Given the description of an element on the screen output the (x, y) to click on. 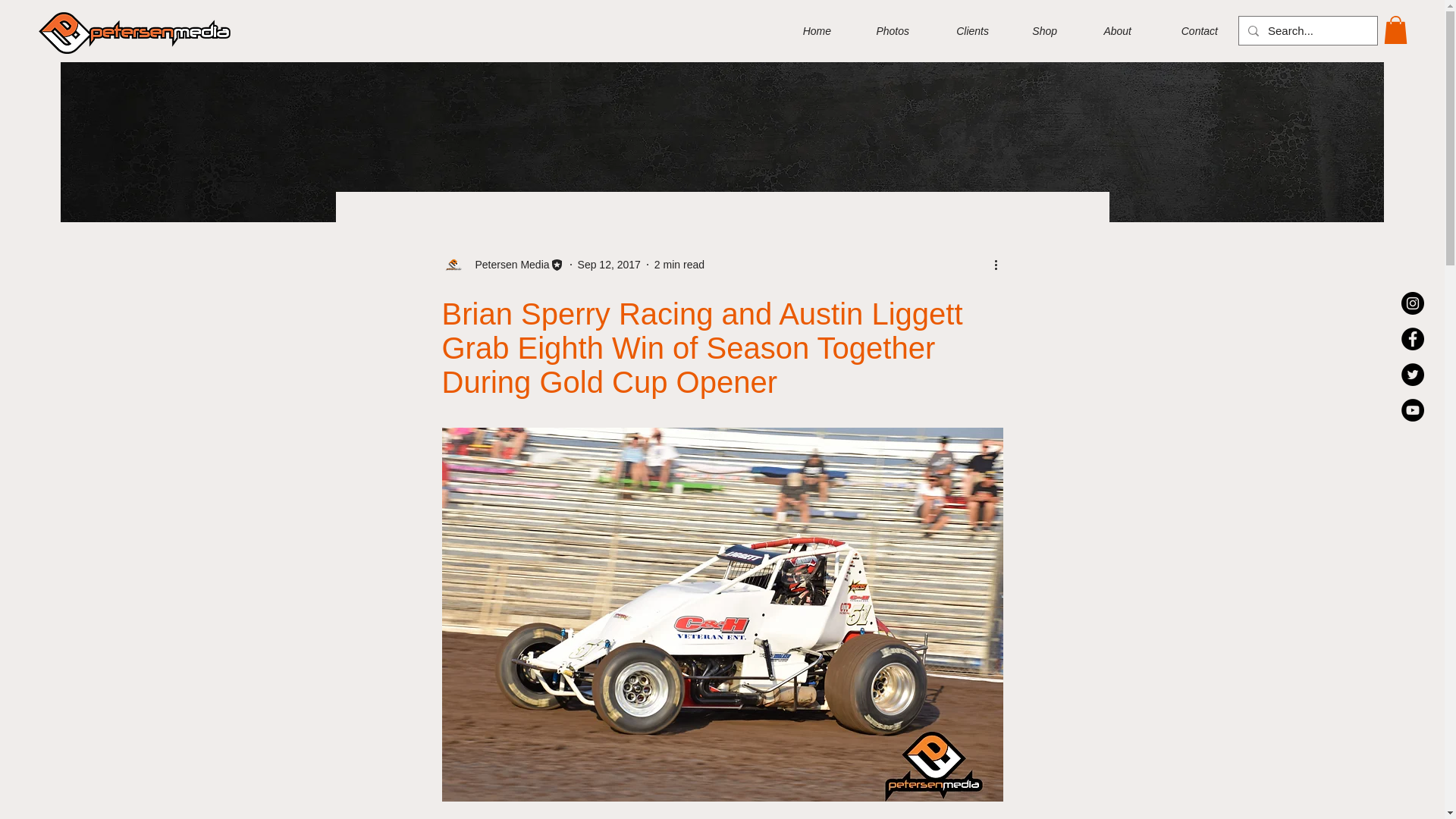
Petersen Media (506, 263)
2 min read (678, 263)
Home (805, 30)
Photos (881, 30)
Shop (1034, 30)
About (1105, 30)
Clients (960, 30)
Contact (1185, 30)
Sep 12, 2017 (609, 263)
Petersen Media (502, 264)
